Given the description of an element on the screen output the (x, y) to click on. 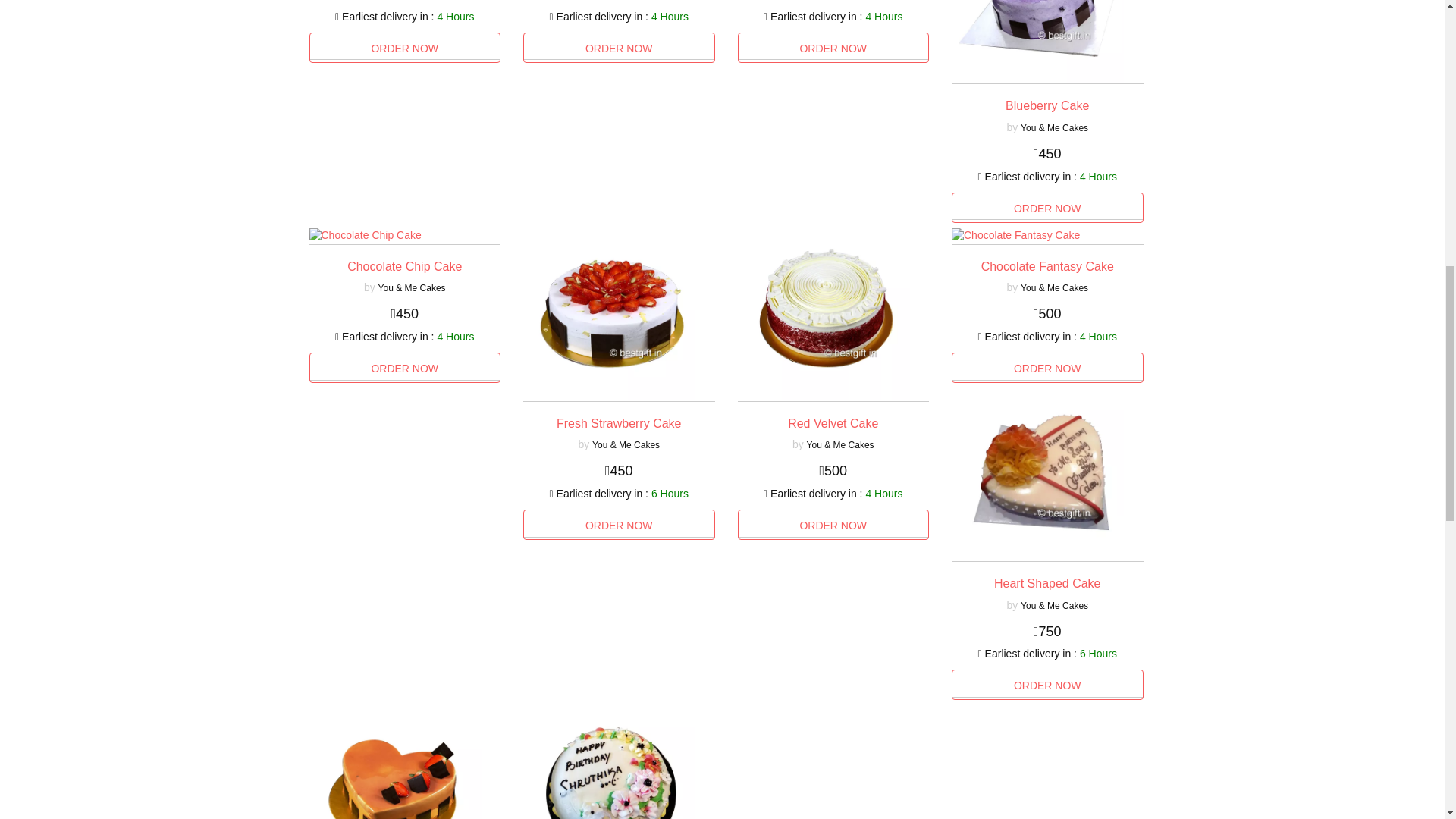
Buy Butterscotch Cake in Erode  (404, 47)
Buy Strawberry Cake in Erode  (832, 47)
ORDER NOW (618, 47)
Gift Blueberry Cake in Erode (1047, 105)
ORDER NOW (404, 47)
Buy Blueberry Cake in Erode  (1047, 207)
Buy White Forest Cake in Erode  (618, 47)
